Given the description of an element on the screen output the (x, y) to click on. 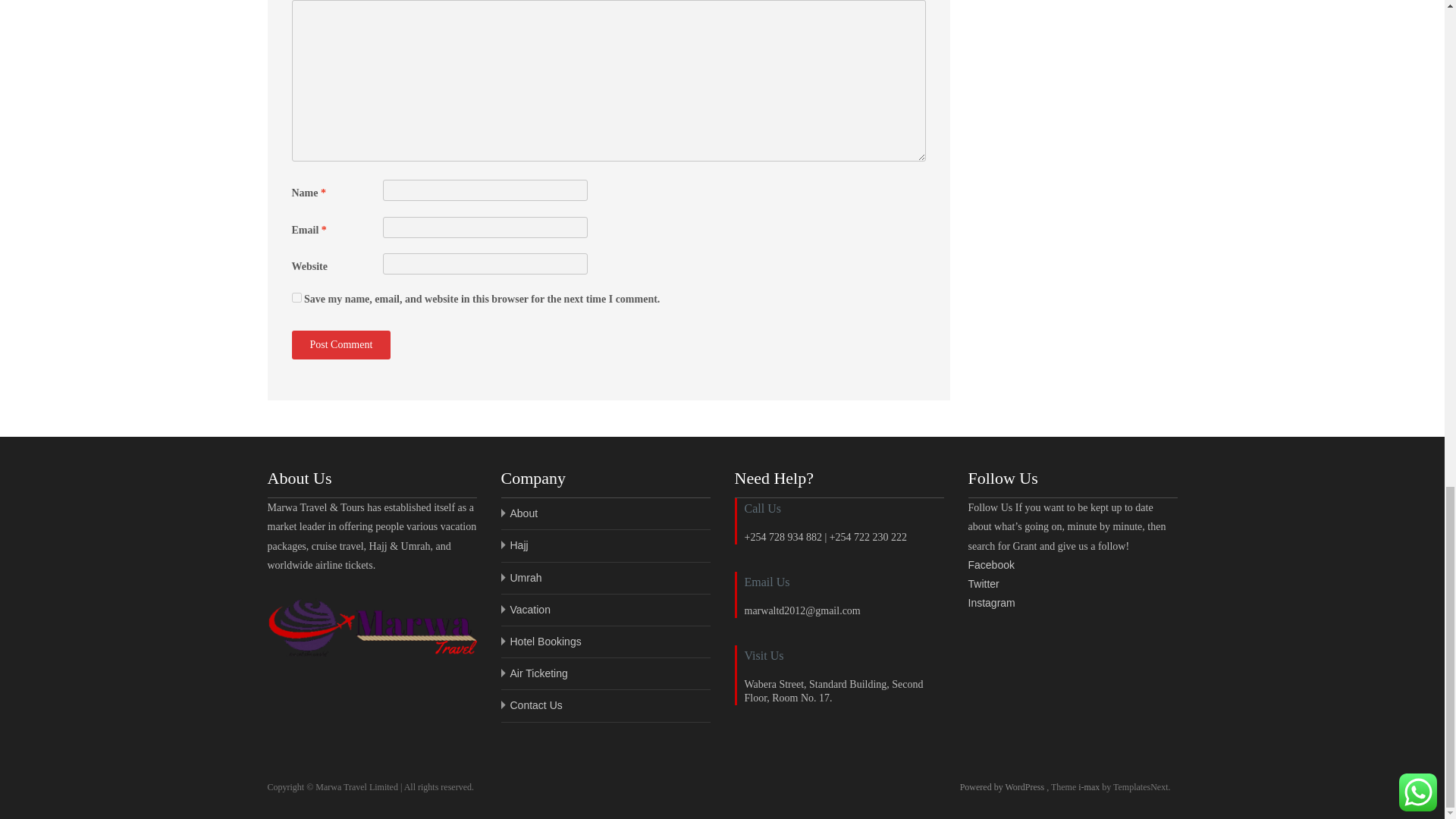
Semantic Personal Publishing Platform (1002, 787)
Post Comment (340, 344)
Multi-purpose WordPress WooCommerce Theme (1090, 787)
yes (296, 297)
Post Comment (340, 344)
